Given the description of an element on the screen output the (x, y) to click on. 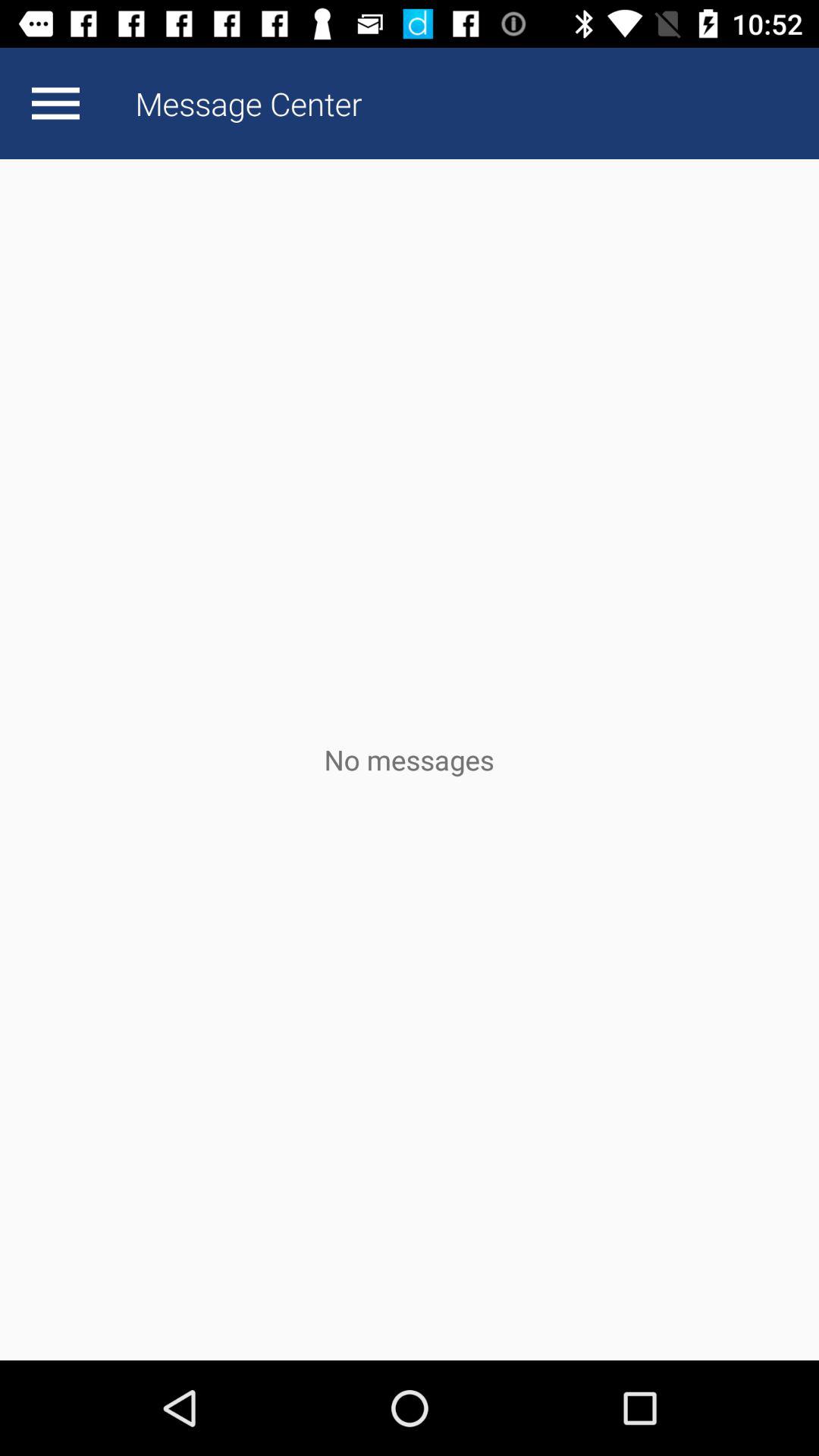
hamburger menu icon (55, 103)
